Given the description of an element on the screen output the (x, y) to click on. 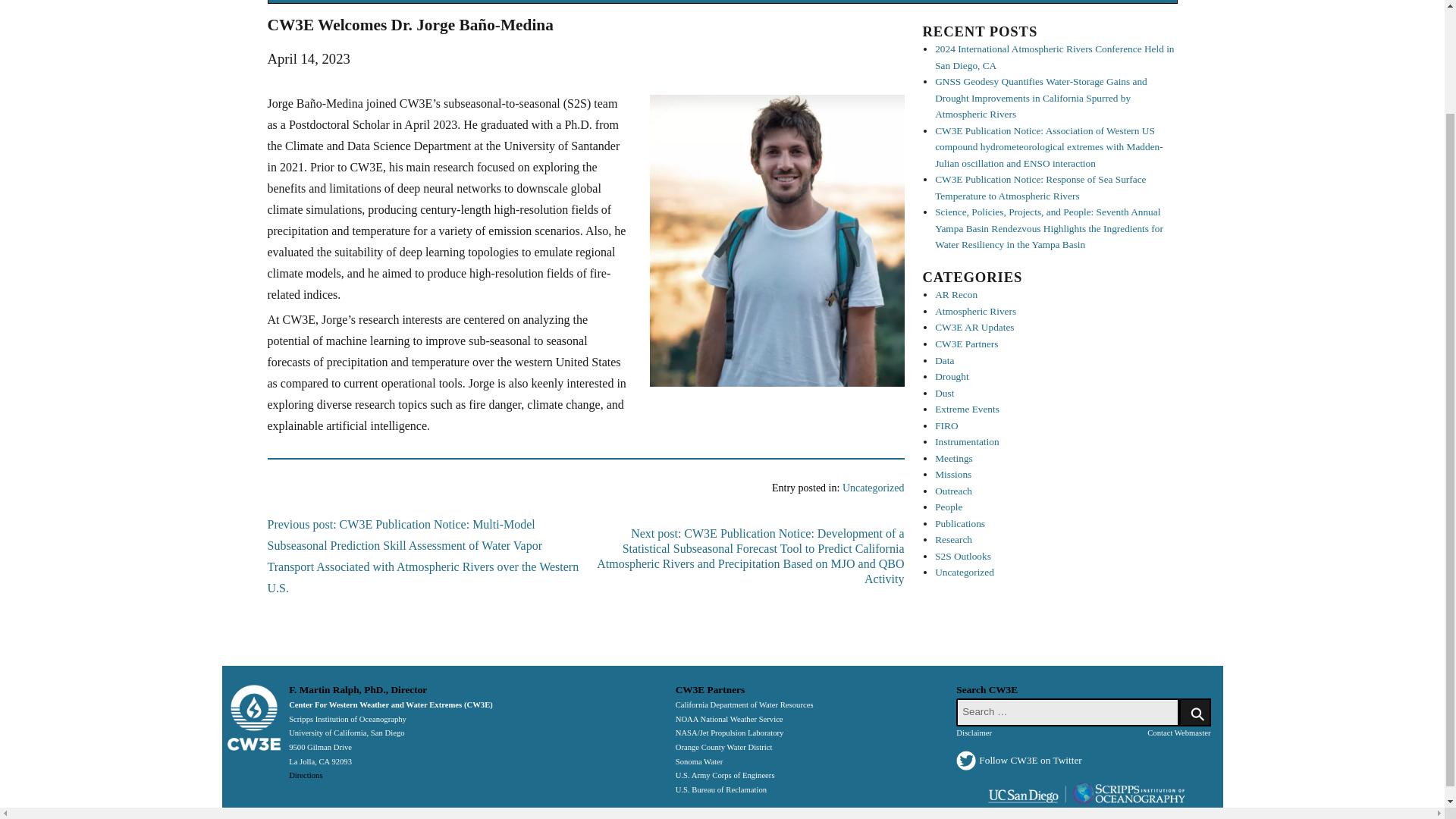
About (355, 1)
Observations (461, 1)
Forecasts (731, 1)
AR Reconnaissance (599, 1)
